Given the description of an element on the screen output the (x, y) to click on. 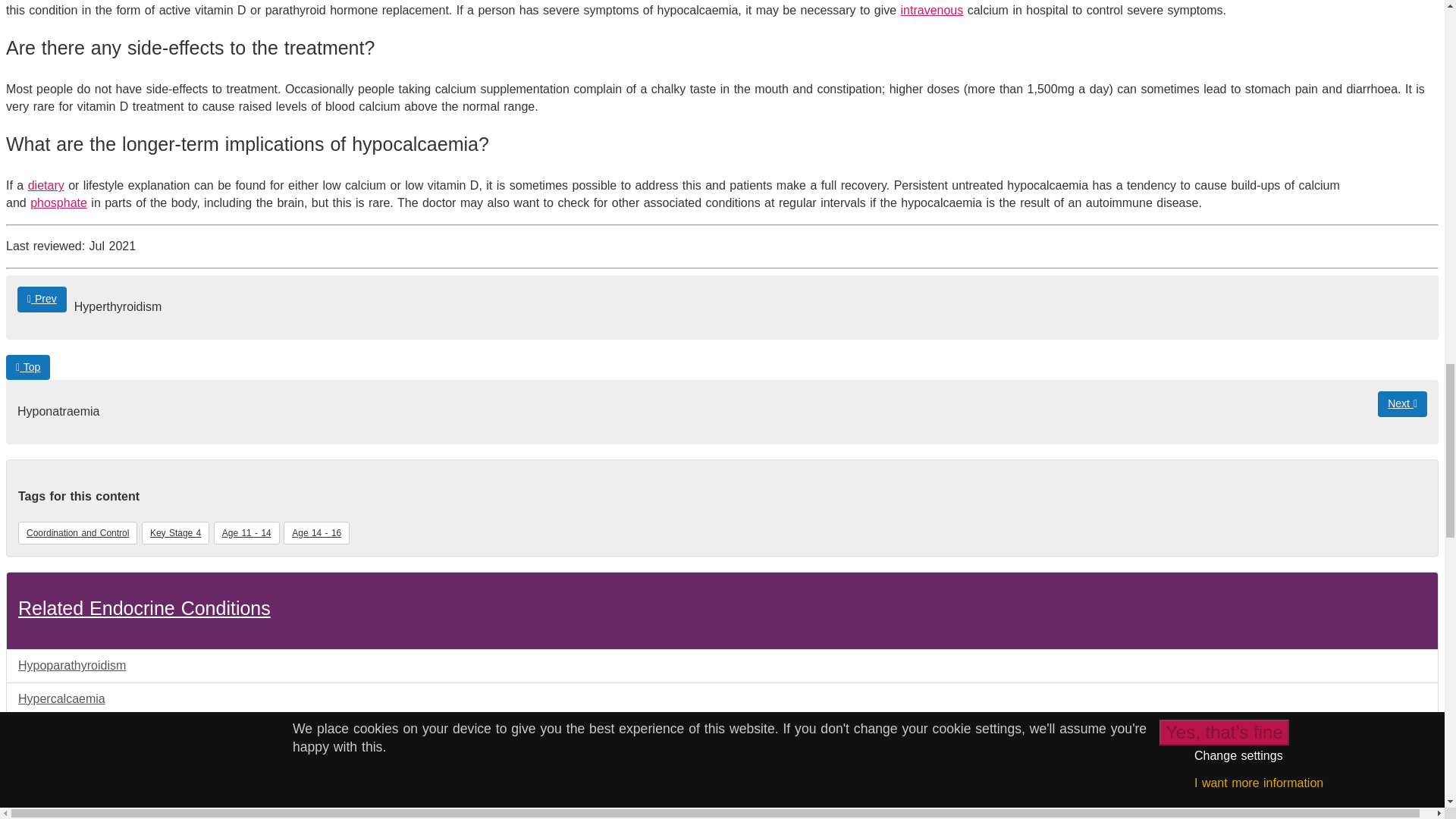
dietary (45, 185)
